Given the description of an element on the screen output the (x, y) to click on. 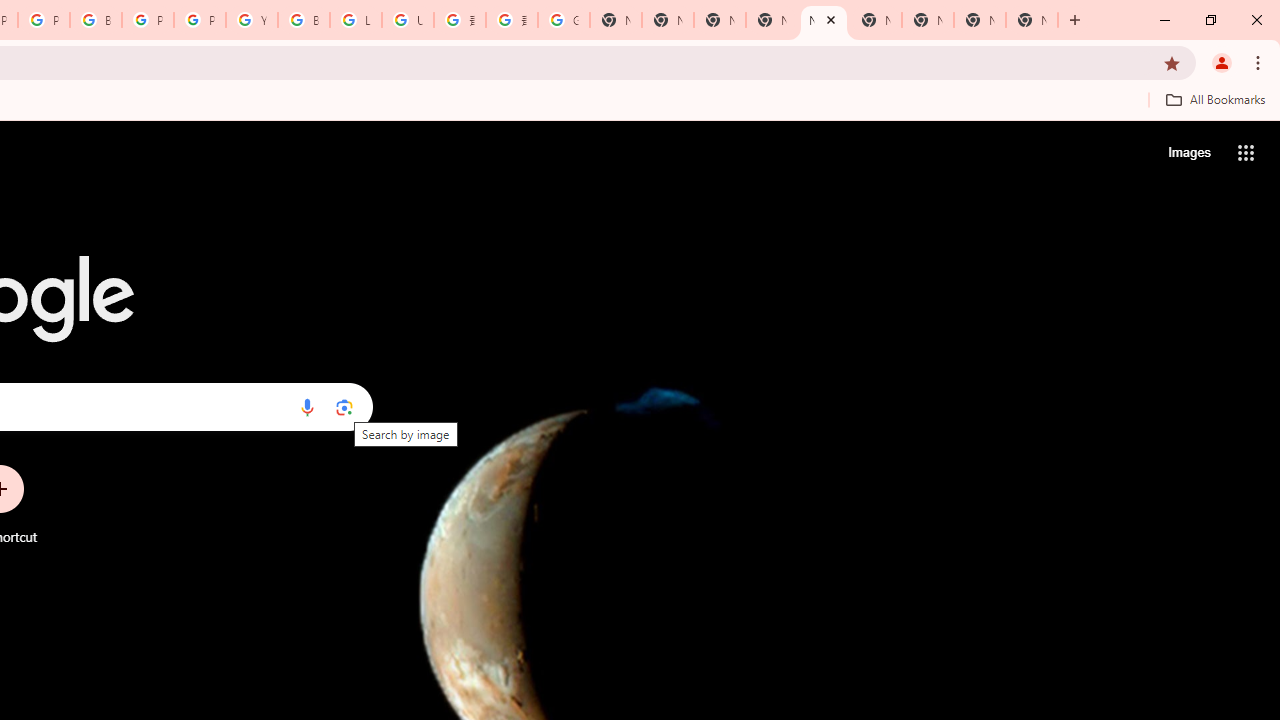
All Bookmarks (1215, 99)
Google Images (563, 20)
New Tab (1032, 20)
New Tab (771, 20)
Privacy Help Center - Policies Help (43, 20)
YouTube (251, 20)
